Given the description of an element on the screen output the (x, y) to click on. 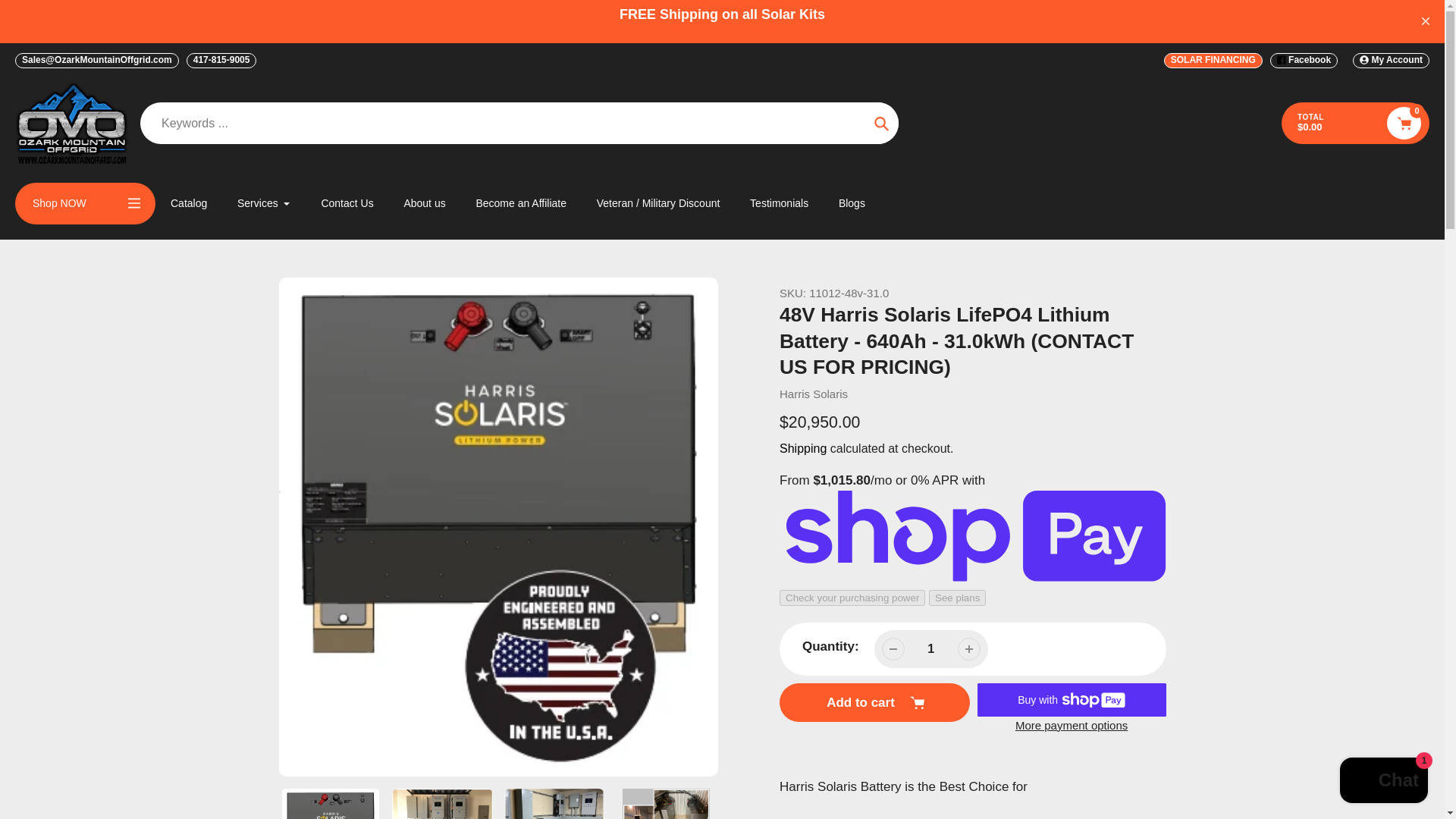
1 (931, 648)
Facebook (1303, 60)
Harris Solaris (812, 393)
SOLAR FINANCING (1212, 60)
Shopify online store chat (1383, 781)
Shop NOW (84, 203)
My Account (1390, 60)
0 (1404, 123)
417-815-9005 (221, 60)
